Given the description of an element on the screen output the (x, y) to click on. 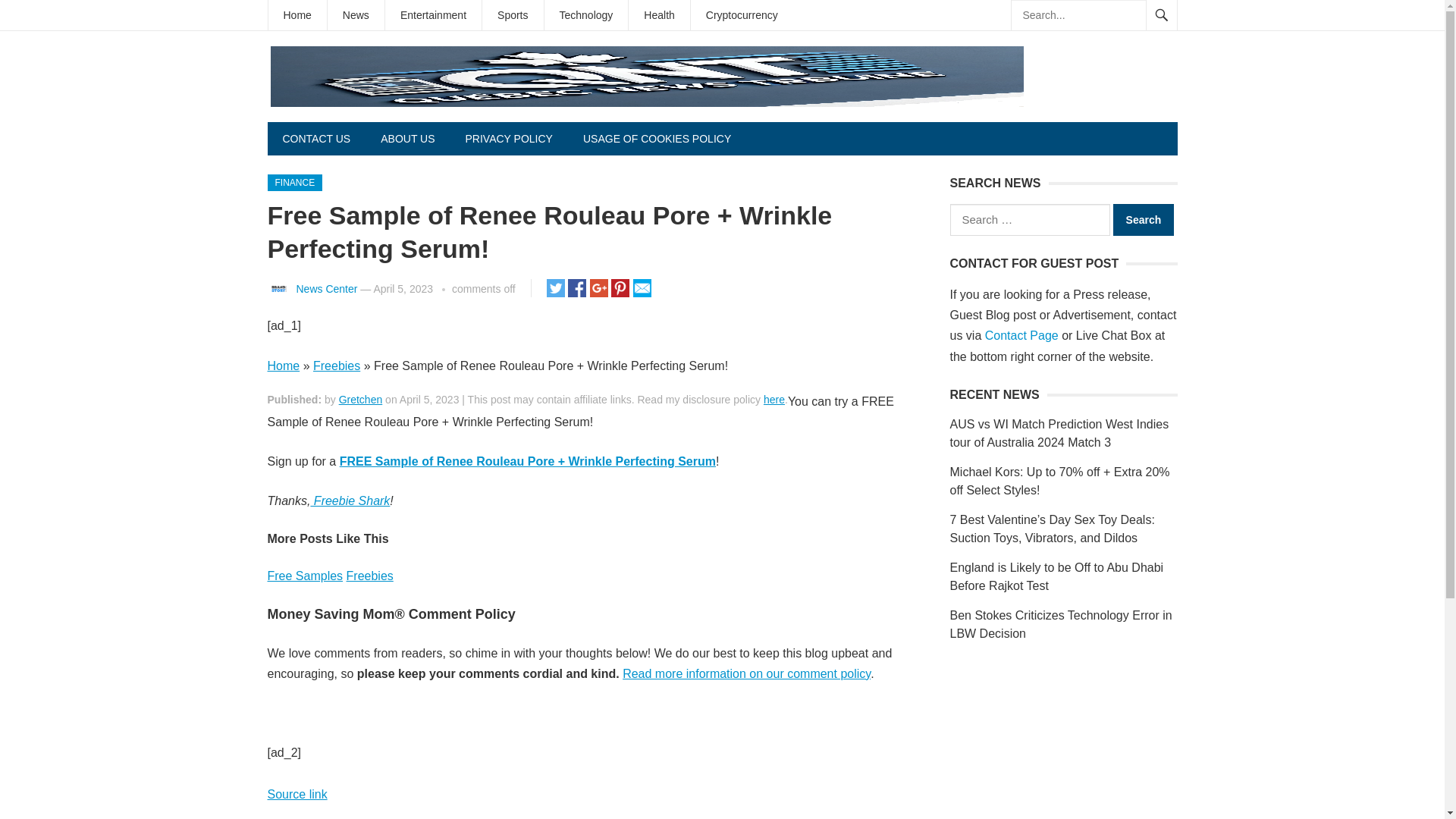
Sports (512, 15)
Health (658, 15)
Entertainment (433, 15)
Technology (586, 15)
USAGE OF COOKIES POLICY (656, 138)
News (355, 15)
Search (1143, 219)
CONTACT US (315, 138)
PRIVACY POLICY (508, 138)
Home (296, 15)
Search (1143, 219)
Cryptocurrency (741, 15)
FINANCE (293, 182)
View all posts in Finance (293, 182)
Home (282, 365)
